Given the description of an element on the screen output the (x, y) to click on. 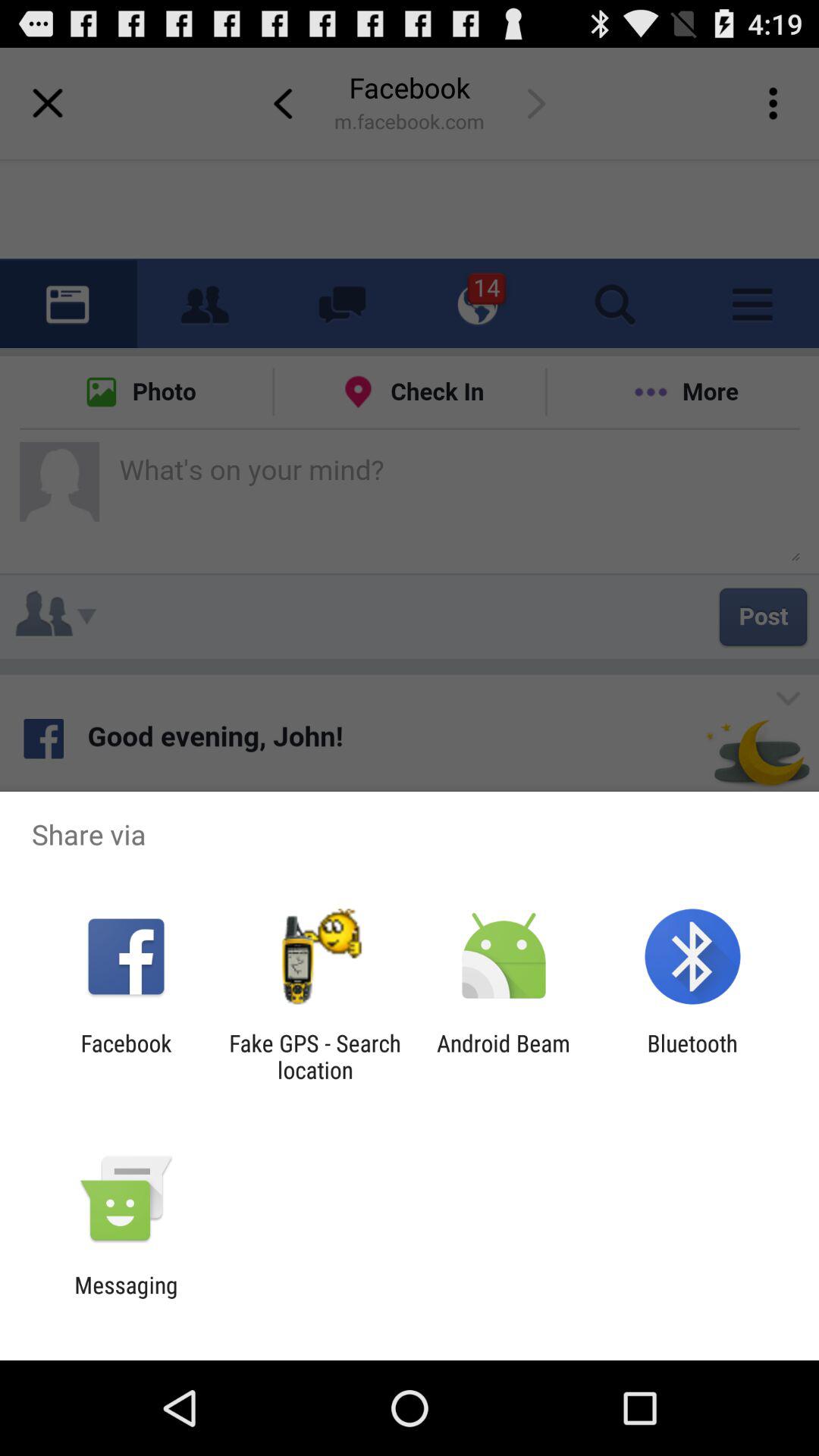
flip to the messaging icon (126, 1298)
